Given the description of an element on the screen output the (x, y) to click on. 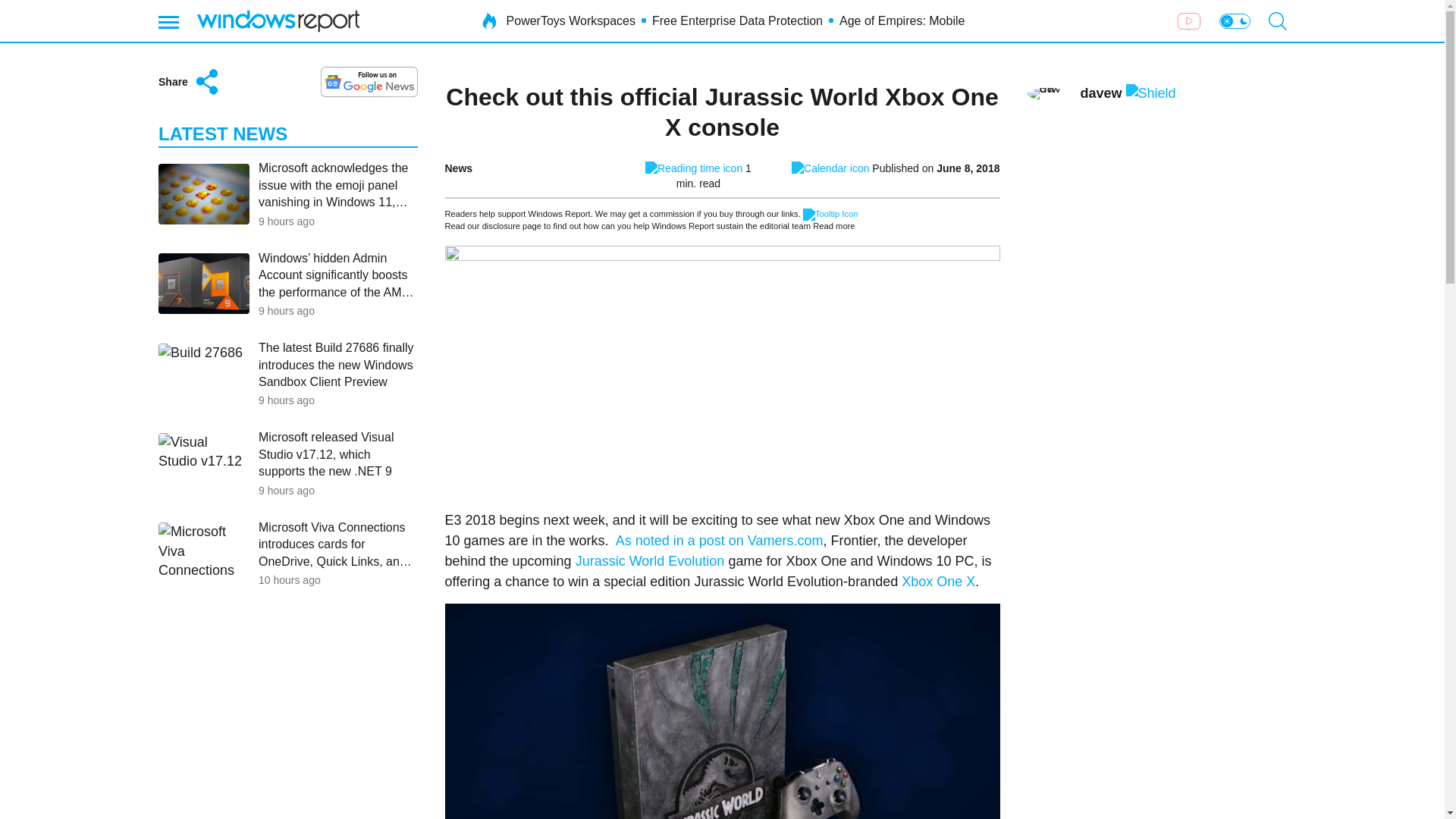
Share (189, 81)
Age of Empires: Mobile (901, 21)
PowerToys Workspaces (570, 21)
Share this article (189, 81)
Free Enterprise Data Protection (737, 21)
Open search bar (1276, 21)
